Given the description of an element on the screen output the (x, y) to click on. 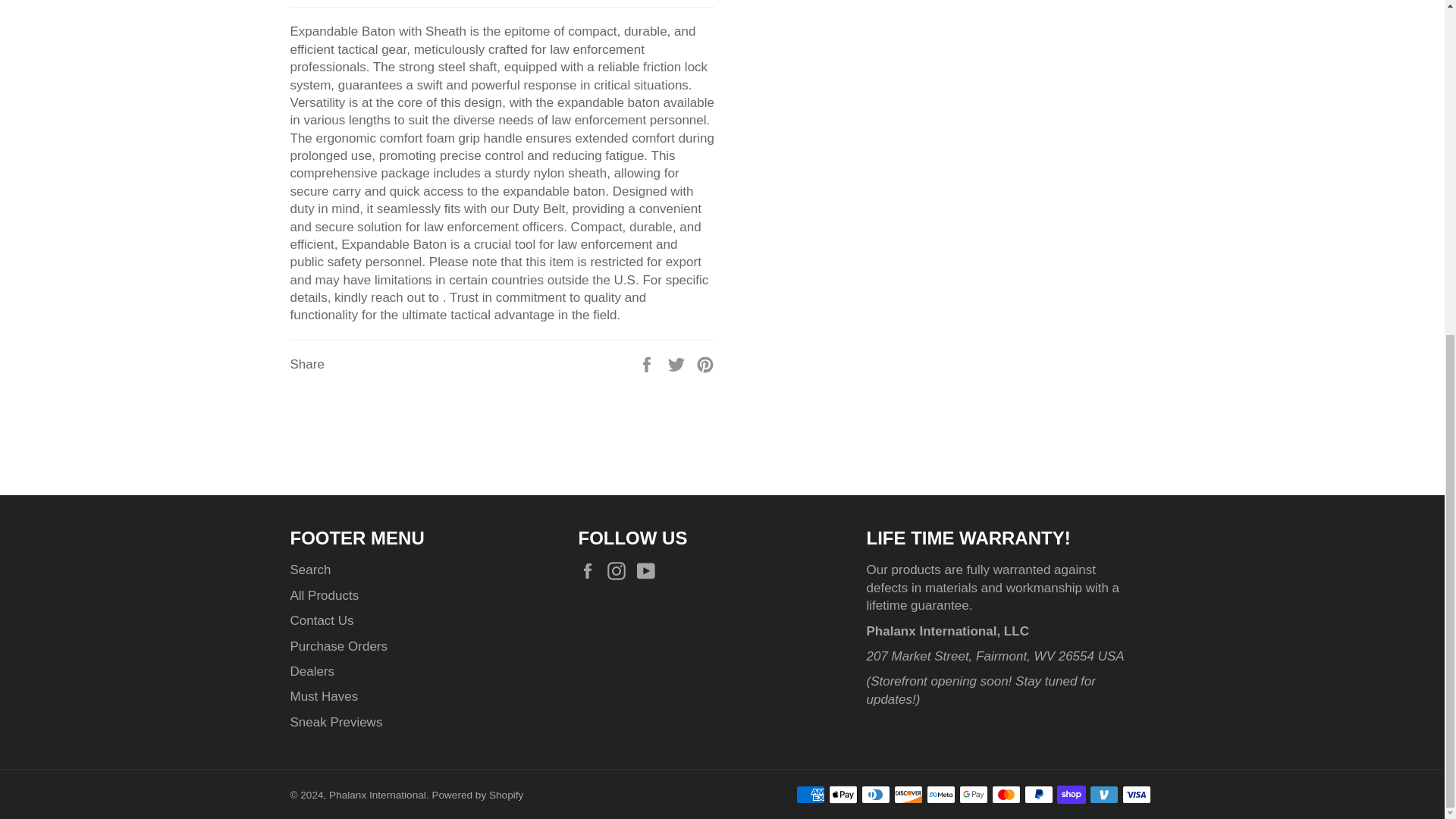
Phalanx International on Instagram (620, 570)
Pin on Pinterest (704, 364)
Phalanx International on Facebook (591, 570)
Tweet on Twitter (677, 364)
Phalanx International on YouTube (649, 570)
Share on Facebook (648, 364)
